Given the description of an element on the screen output the (x, y) to click on. 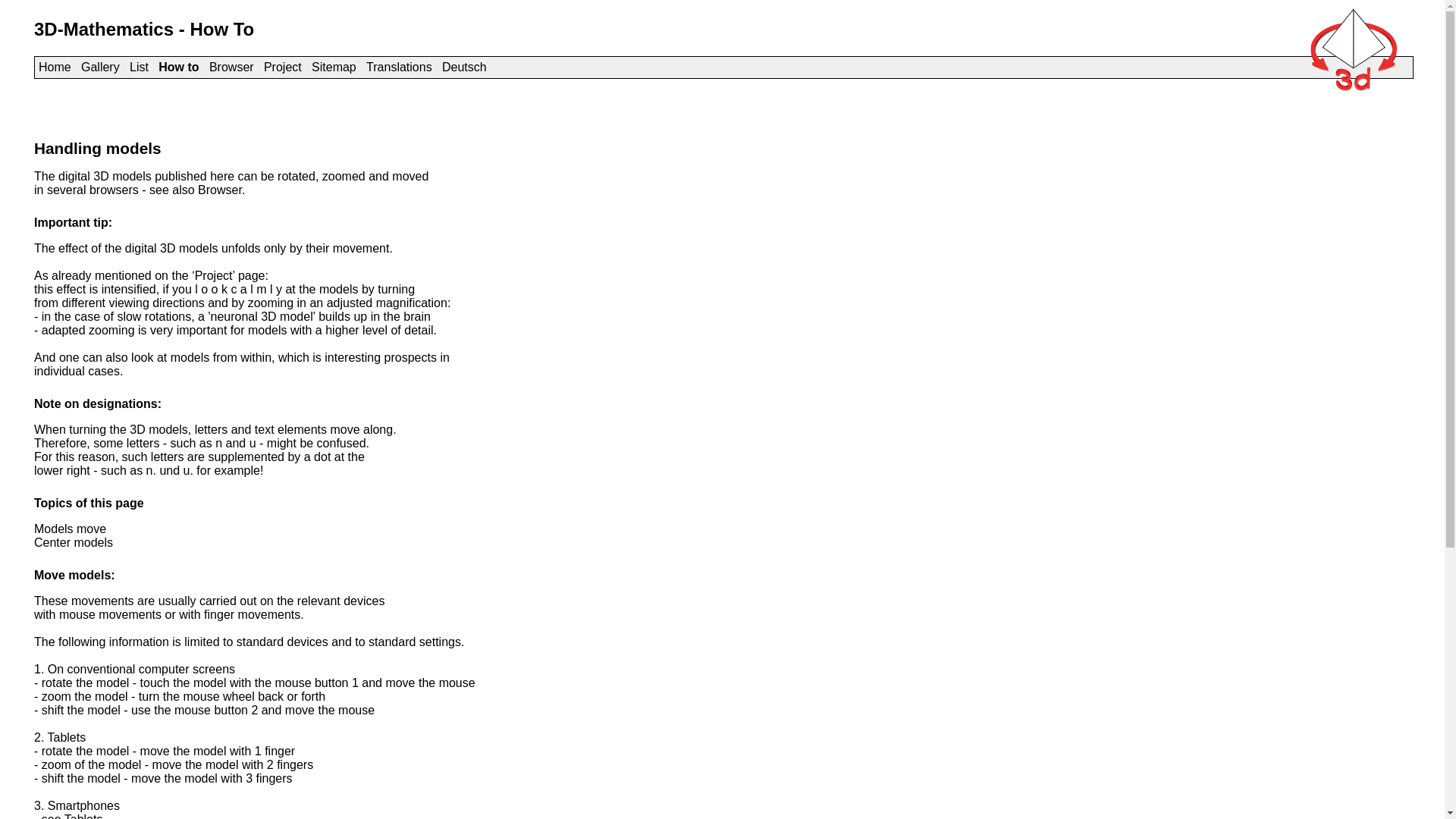
List Element type: text (138, 67)
Deutsch Element type: text (464, 67)
Sitemap Element type: text (333, 67)
3D-Mathematics - How To Element type: text (144, 28)
Translations Element type: text (399, 67)
Project Element type: text (282, 67)
Home Element type: text (54, 67)
Gallery Element type: text (100, 67)
Browser Element type: text (231, 67)
How to Element type: text (178, 67)
